Given the description of an element on the screen output the (x, y) to click on. 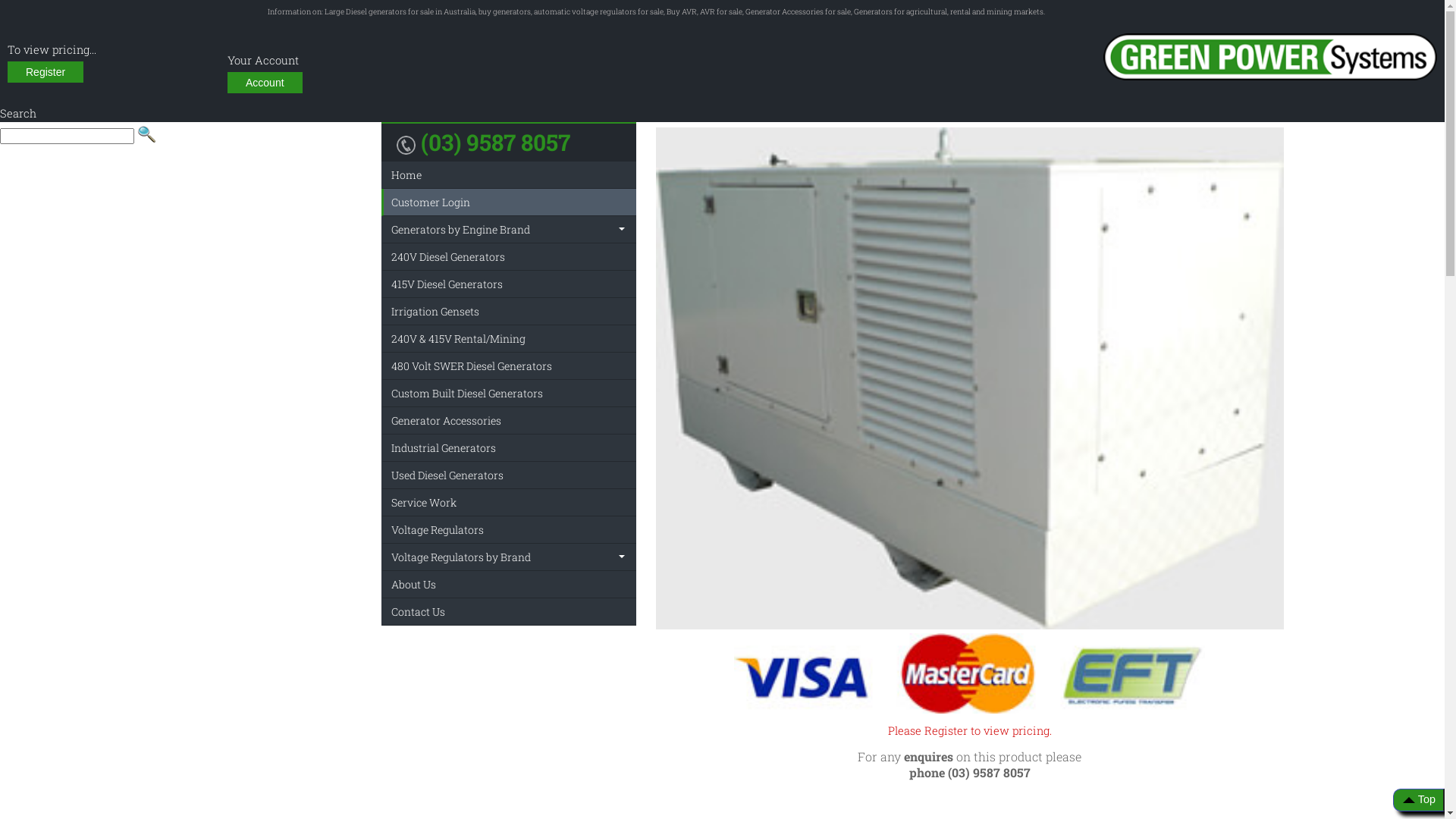
Generators by Engine Brand Element type: text (460, 229)
Home Element type: text (406, 174)
Voltage Regulators Element type: text (437, 529)
About Us Element type: text (413, 584)
Irrigation Gensets Element type: text (435, 311)
480 Volt SWER Diesel Generators Element type: text (471, 365)
Voltage Regulators by Brand Element type: text (460, 556)
Industrial Generators Element type: text (443, 447)
Contact Us Element type: text (418, 611)
240V & 415V Rental/Mining Element type: text (458, 338)
415V Diesel Generators Element type: text (446, 283)
Used Diesel Generators Element type: text (447, 474)
Service Work Element type: text (423, 502)
Register Element type: text (45, 71)
Customer Login Element type: text (430, 201)
Top Element type: text (1418, 799)
Phone (03) 9587 8057 for diesel generators Element type: hover (404, 144)
Generator Accessories Element type: text (446, 420)
Account Element type: text (264, 82)
Large Diesel Generators for Sale Element type: hover (1270, 56)
240V Diesel Generators Element type: text (448, 256)
Please Register to view pricing. Element type: text (969, 730)
Custom Built Diesel Generators Element type: text (466, 392)
